Given the description of an element on the screen output the (x, y) to click on. 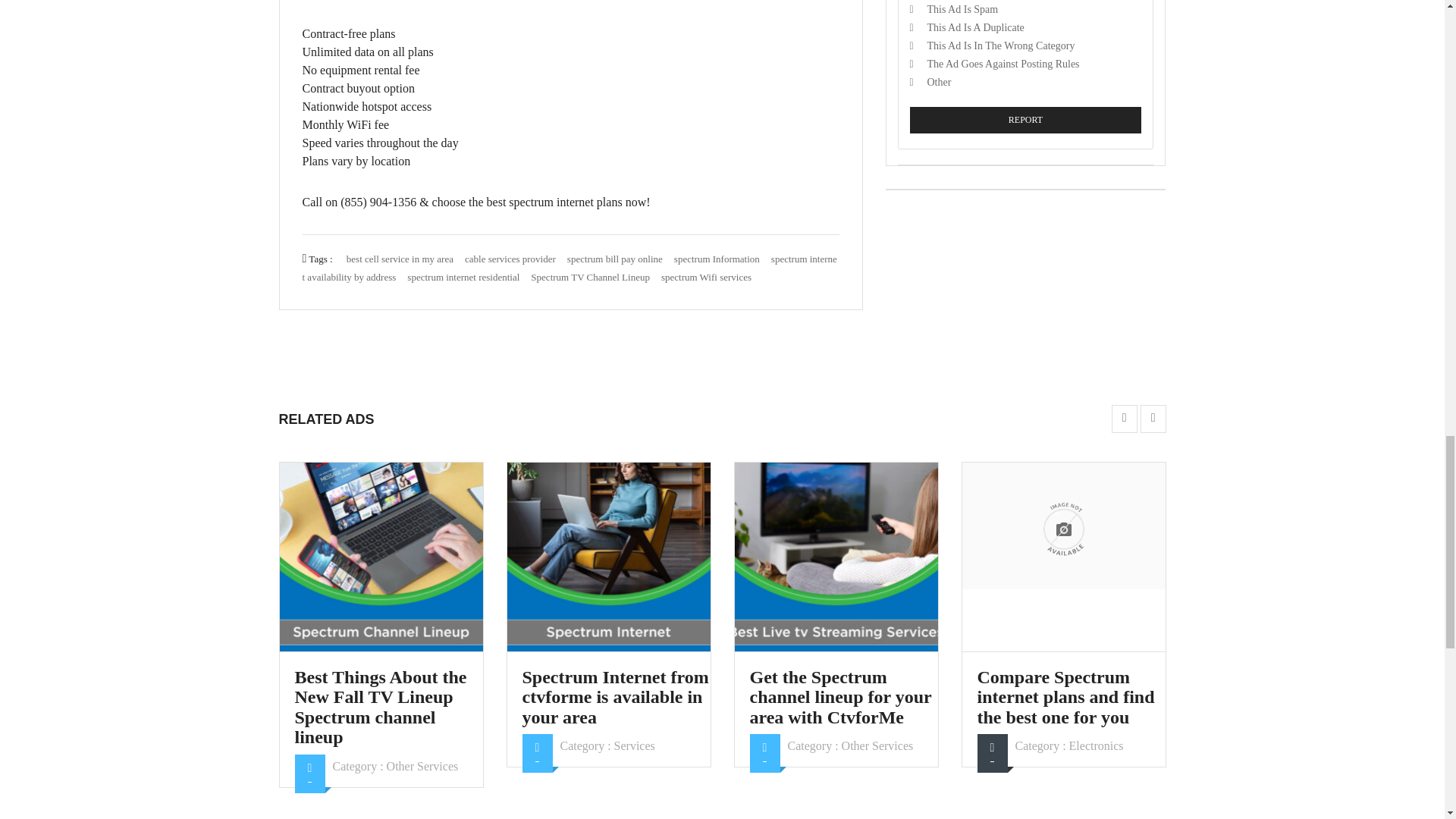
best cell service in my area (399, 258)
